Given the description of an element on the screen output the (x, y) to click on. 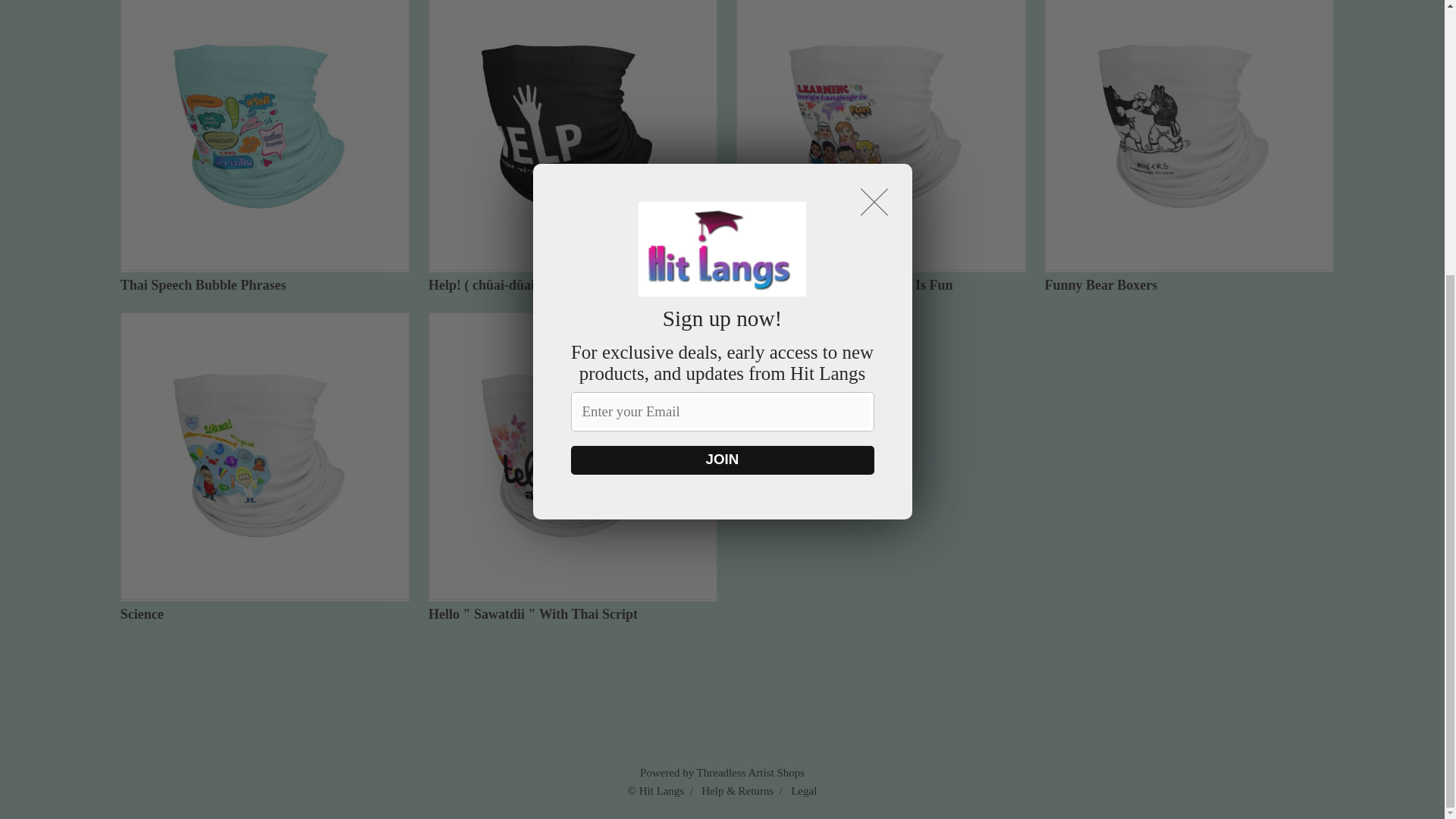
Thai Speech Bubble Phrases (264, 146)
Legal (803, 790)
Hello " Sawatdii " With Thai Script (572, 467)
Science (264, 467)
Funny Bear Boxers (1189, 146)
Threadless Artist Shops (751, 772)
Learning A Foreign Language Is Fun (880, 146)
